Given the description of an element on the screen output the (x, y) to click on. 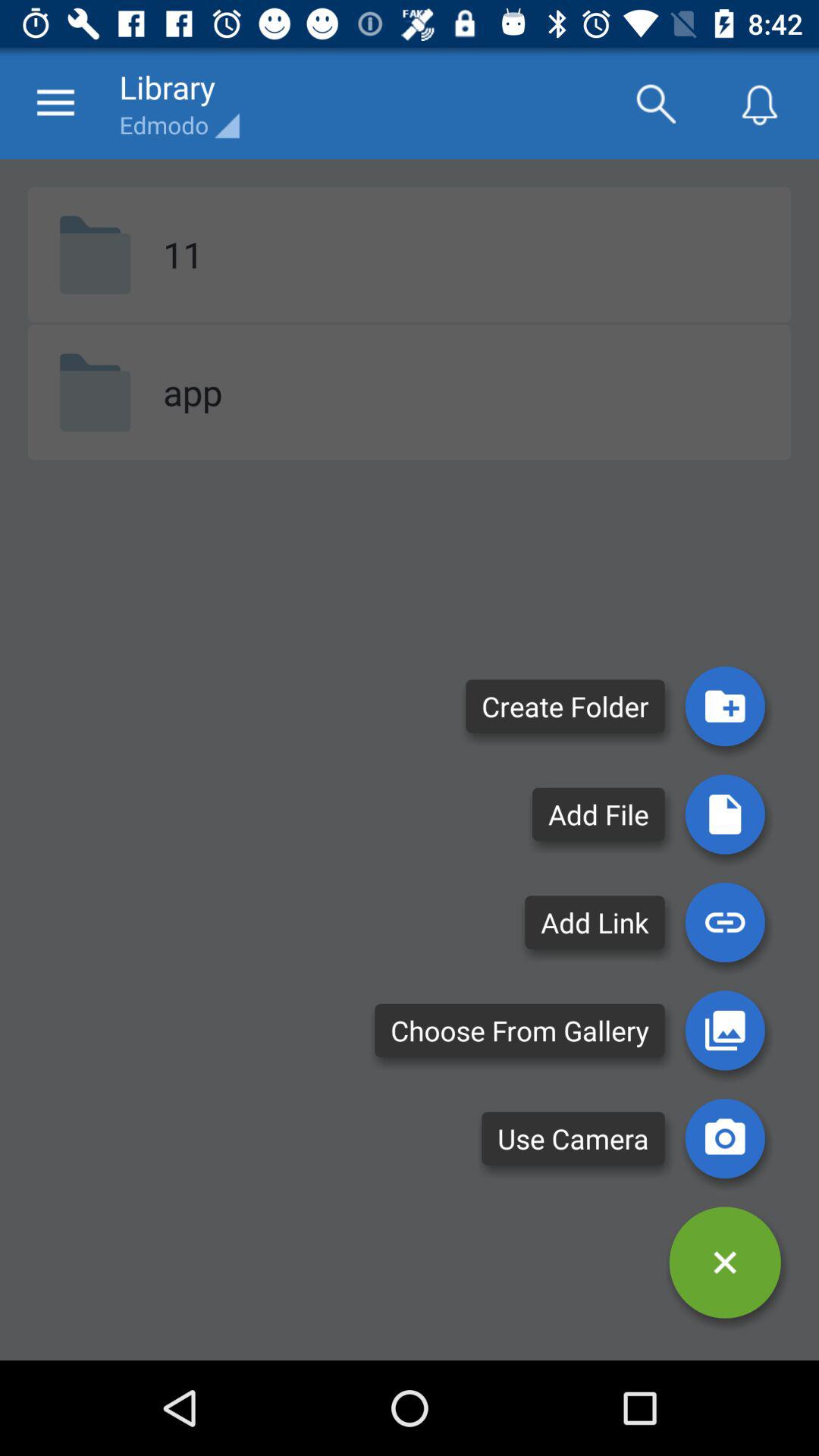
tap item below 11 (192, 391)
